Given the description of an element on the screen output the (x, y) to click on. 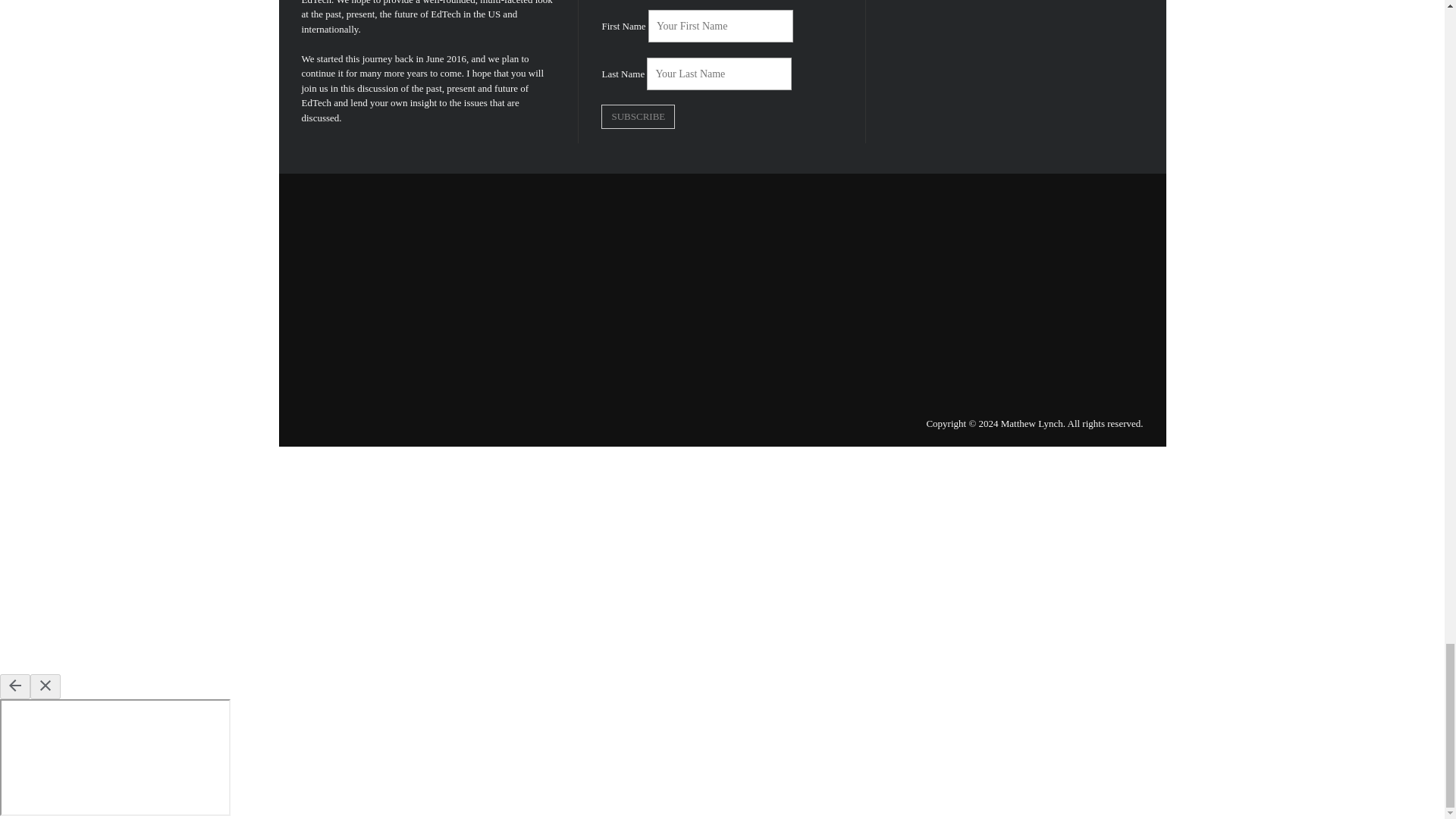
Subscribe (638, 116)
